Given the description of an element on the screen output the (x, y) to click on. 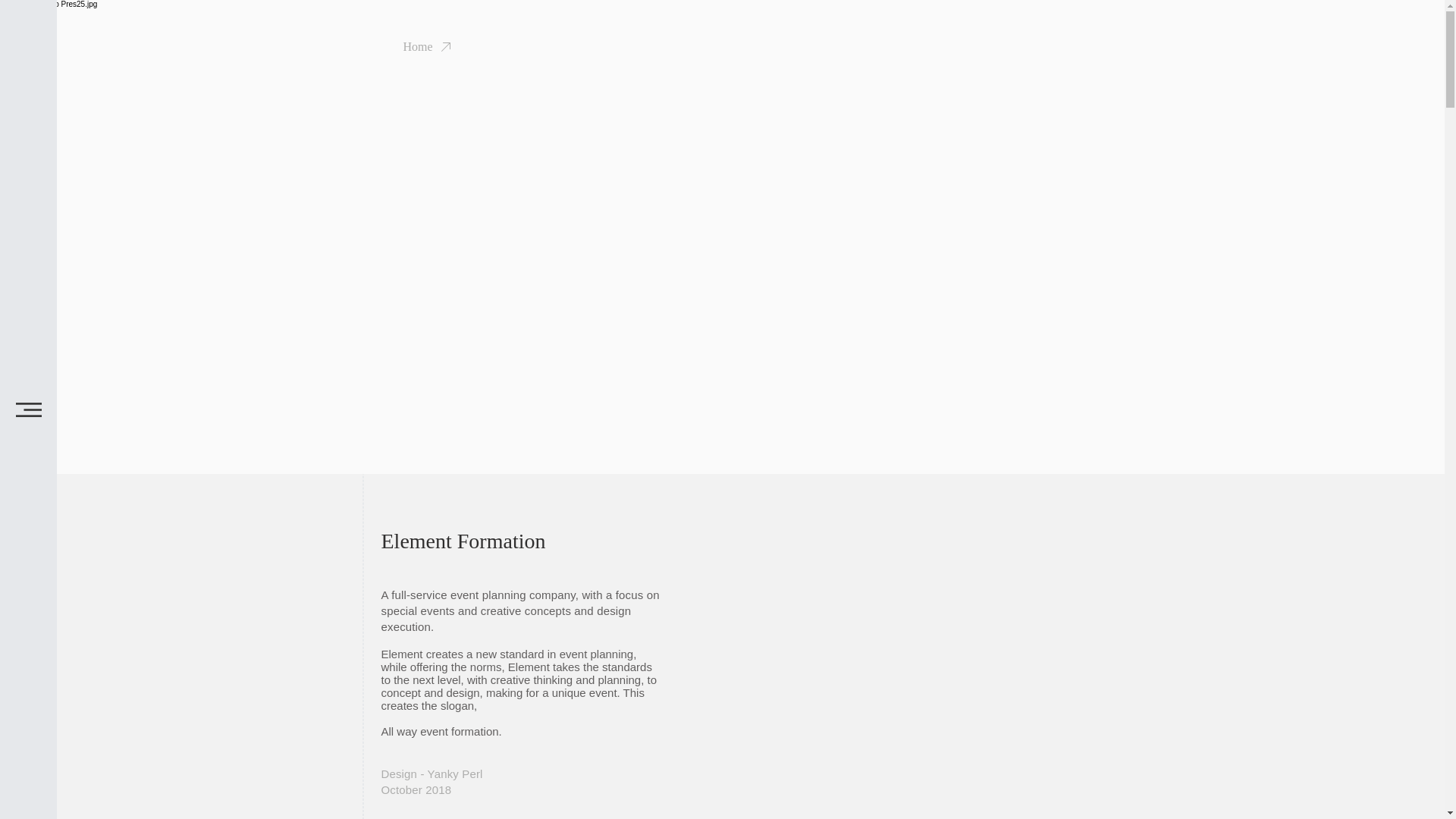
Home (416, 47)
